Given the description of an element on the screen output the (x, y) to click on. 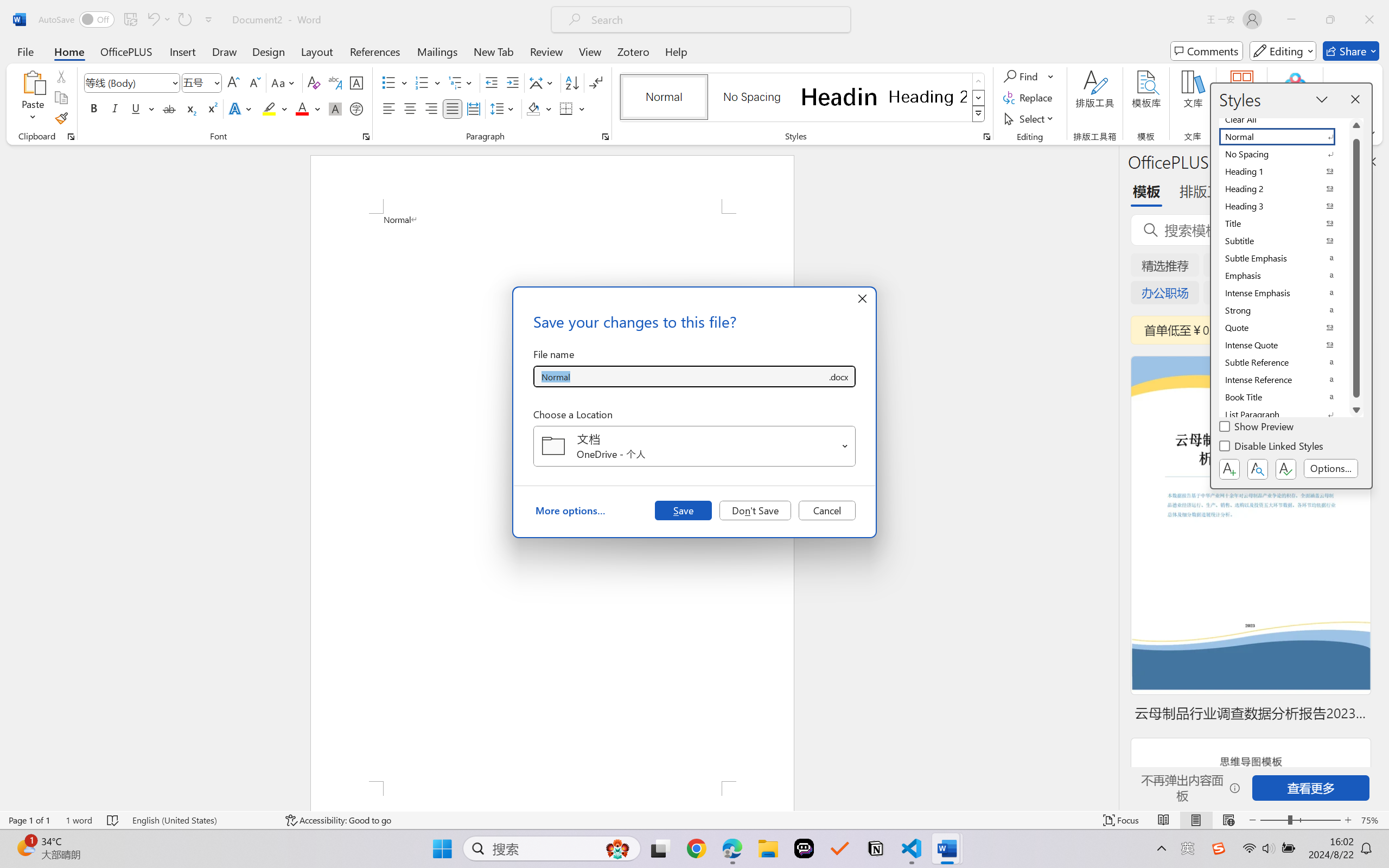
Center (409, 108)
Share (1350, 51)
AutoSave (76, 19)
Styles (978, 113)
Google Chrome (696, 848)
Format Painter (60, 118)
Font Size (201, 82)
